Given the description of an element on the screen output the (x, y) to click on. 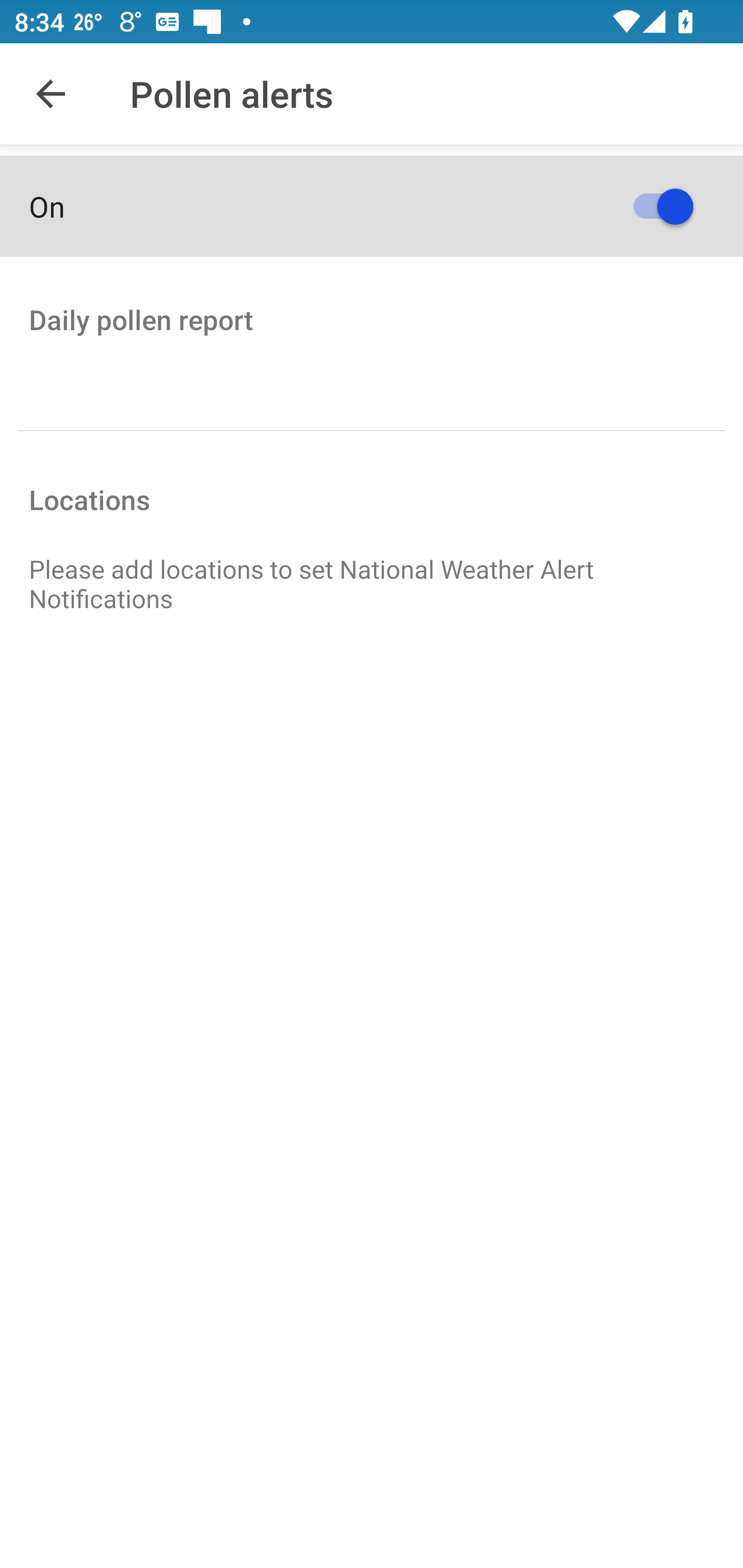
Navigate up (50, 93)
On (371, 206)
